Given the description of an element on the screen output the (x, y) to click on. 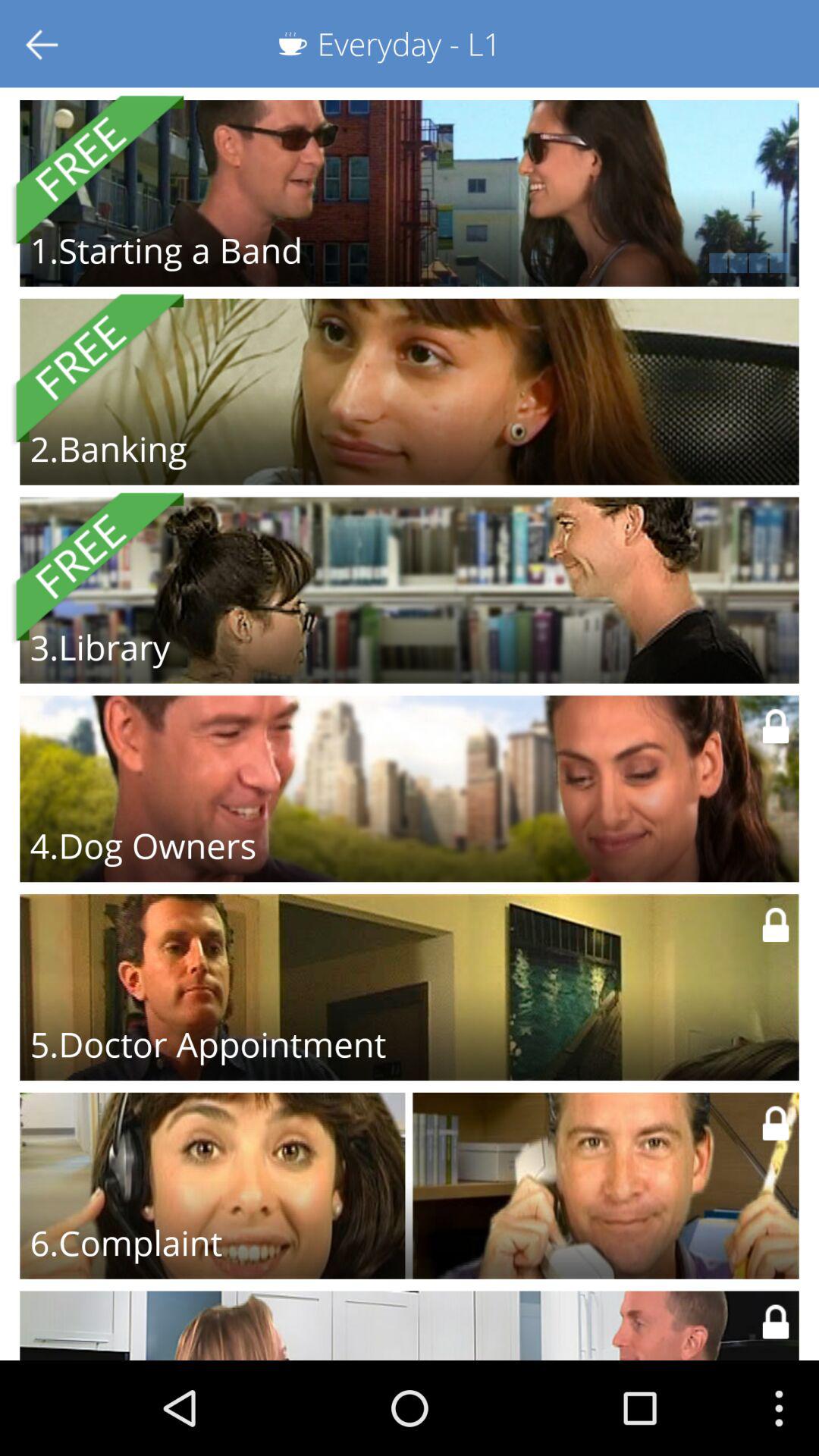
swipe until the 5.doctor appointment item (208, 1043)
